Given the description of an element on the screen output the (x, y) to click on. 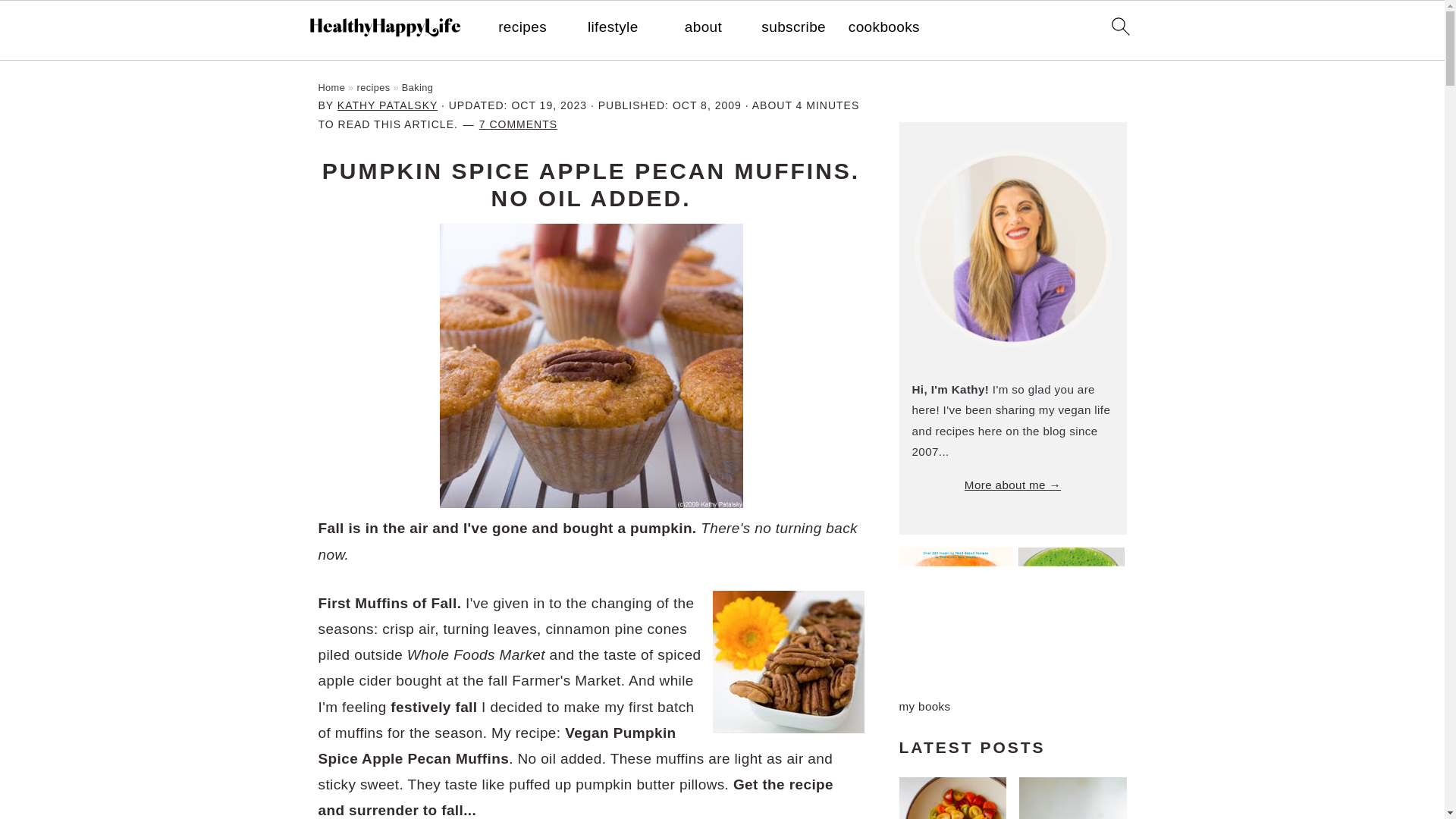
subscribe (793, 27)
pumpkin-spice-apple-pecan-muffins (590, 365)
search icon (1119, 26)
cookbooks (884, 27)
about (703, 27)
pecans (788, 661)
recipes (522, 27)
lifestyle (613, 27)
